Given the description of an element on the screen output the (x, y) to click on. 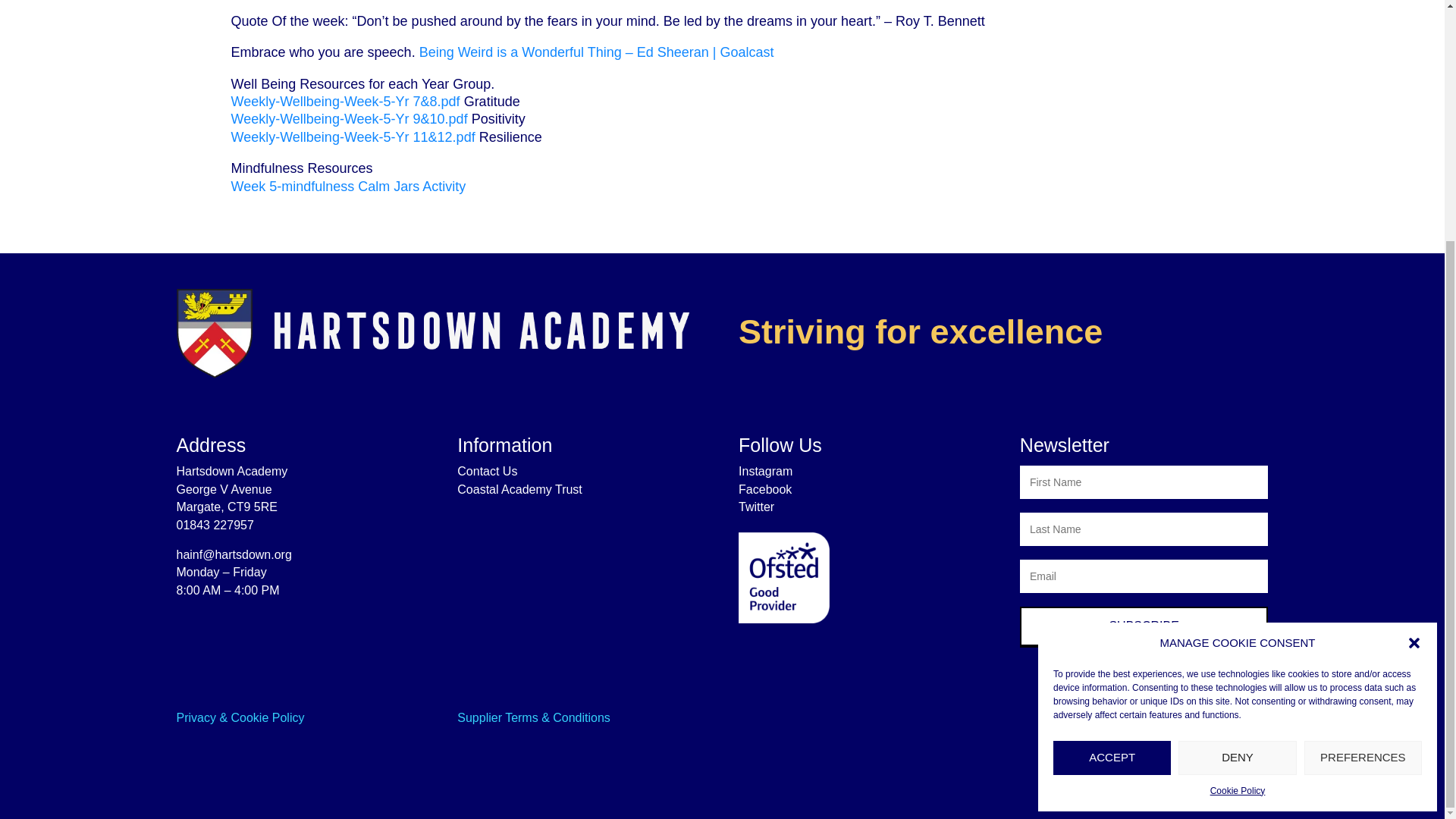
DENY (1236, 424)
Frame 2110 (430, 331)
Cookie Policy (1237, 457)
PREFERENCES (1363, 424)
ACCEPT (1111, 424)
